Given the description of an element on the screen output the (x, y) to click on. 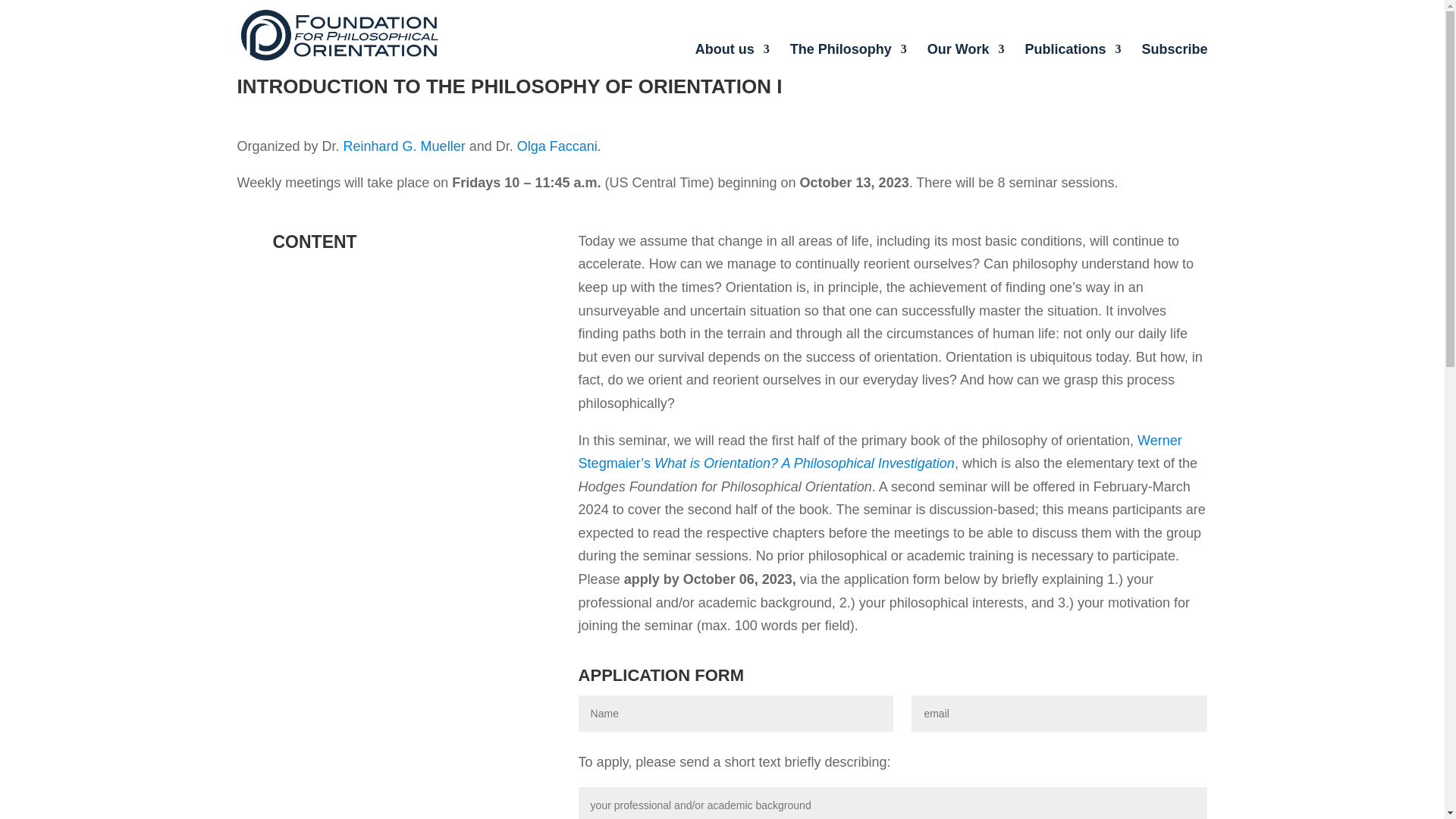
Publications (1073, 51)
Reinhard G. Mueller (404, 145)
Olga Faccani (556, 145)
About us (732, 51)
The Philosophy (848, 51)
Our Work (965, 51)
Subscribe (1174, 51)
